Given the description of an element on the screen output the (x, y) to click on. 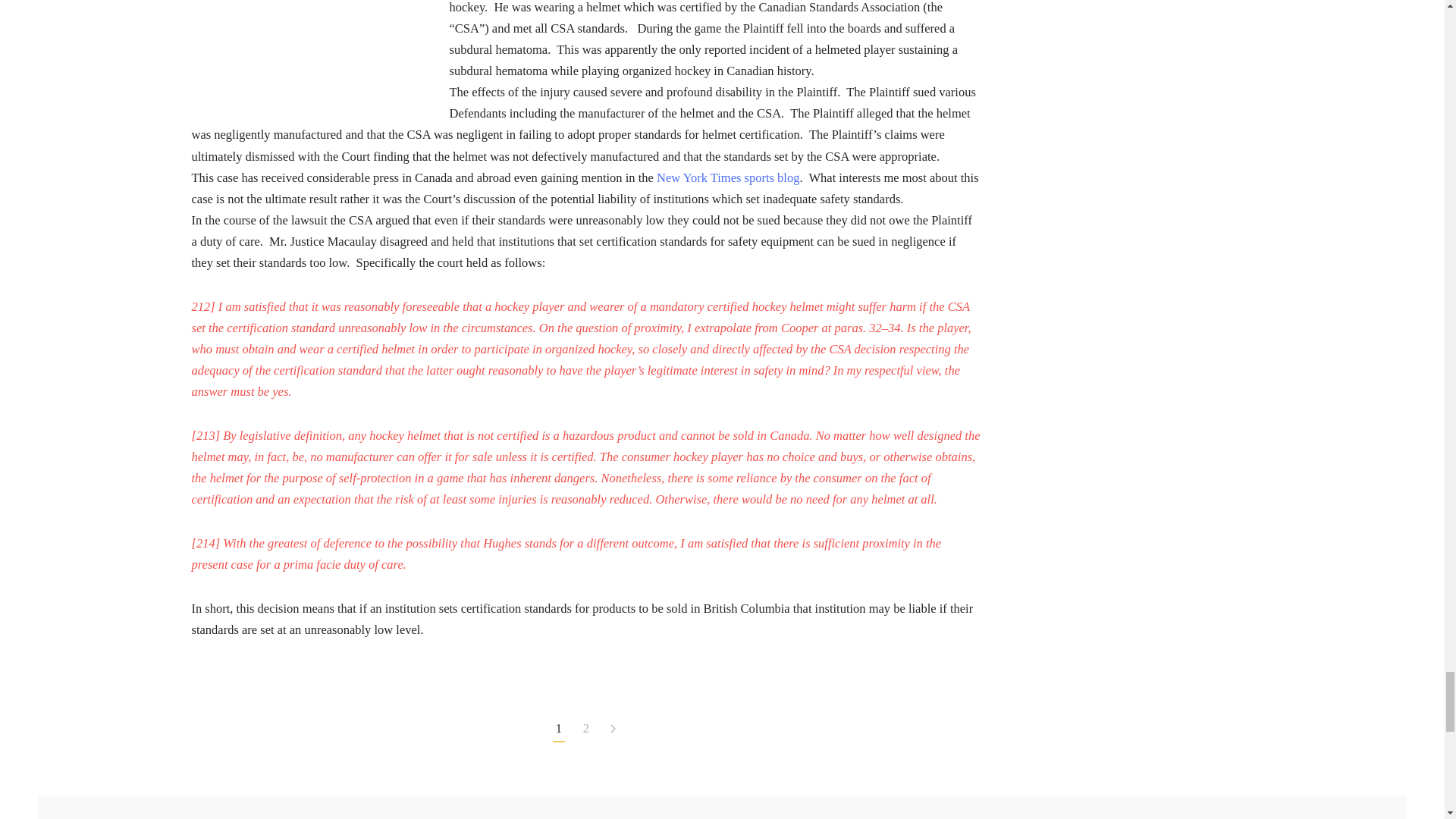
bc-injury-law-certification-standards (304, 58)
